Given the description of an element on the screen output the (x, y) to click on. 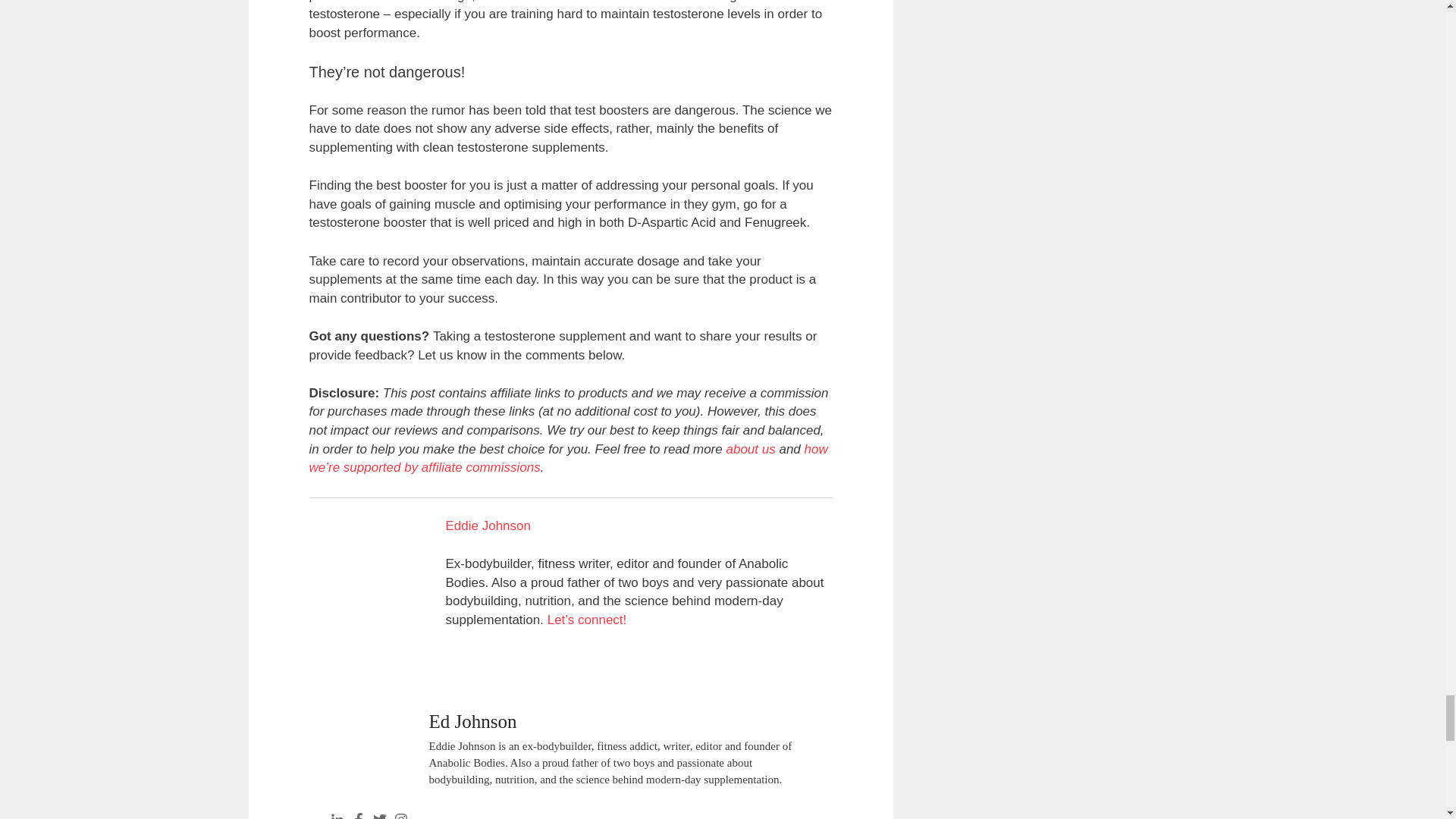
Twitter (379, 816)
Instagram (400, 816)
Facebook (358, 816)
Linkedin (336, 816)
